Given the description of an element on the screen output the (x, y) to click on. 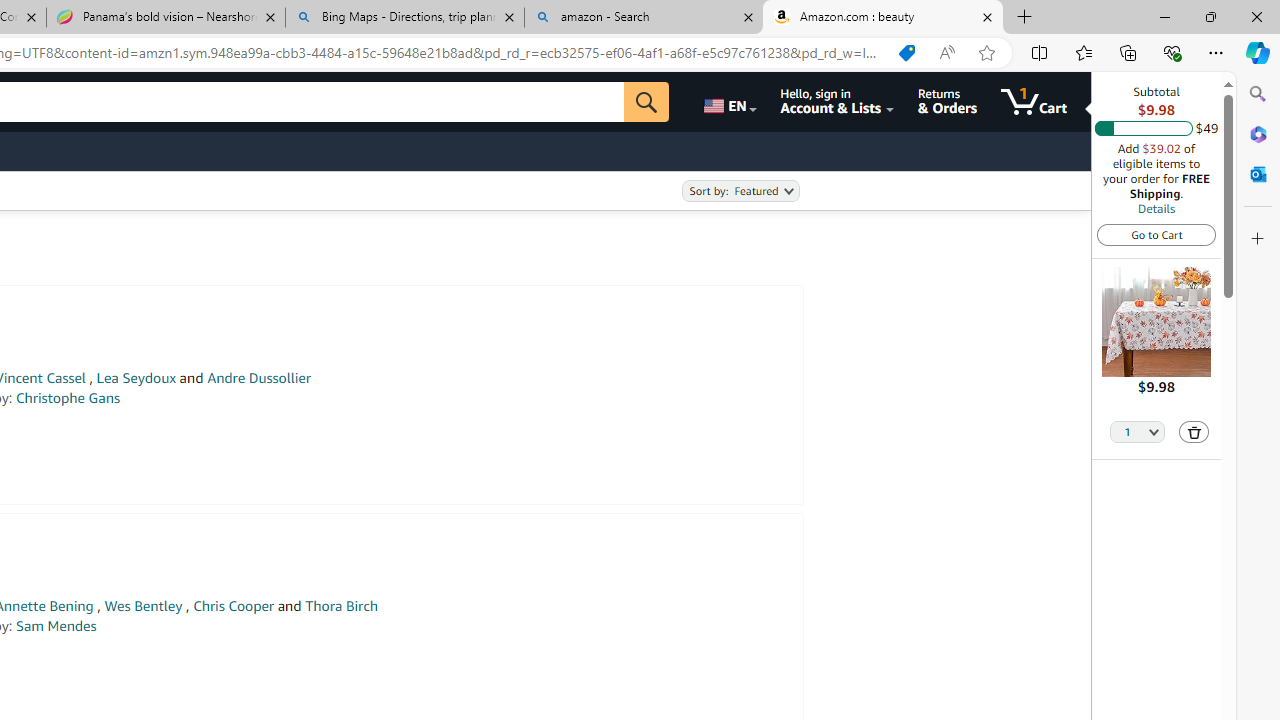
Thora Birch (340, 606)
Lea Seydoux (136, 378)
Christophe Gans (67, 398)
Go to Cart (1156, 234)
1 item in cart (1034, 101)
Andre Dussollier (259, 378)
